Given the description of an element on the screen output the (x, y) to click on. 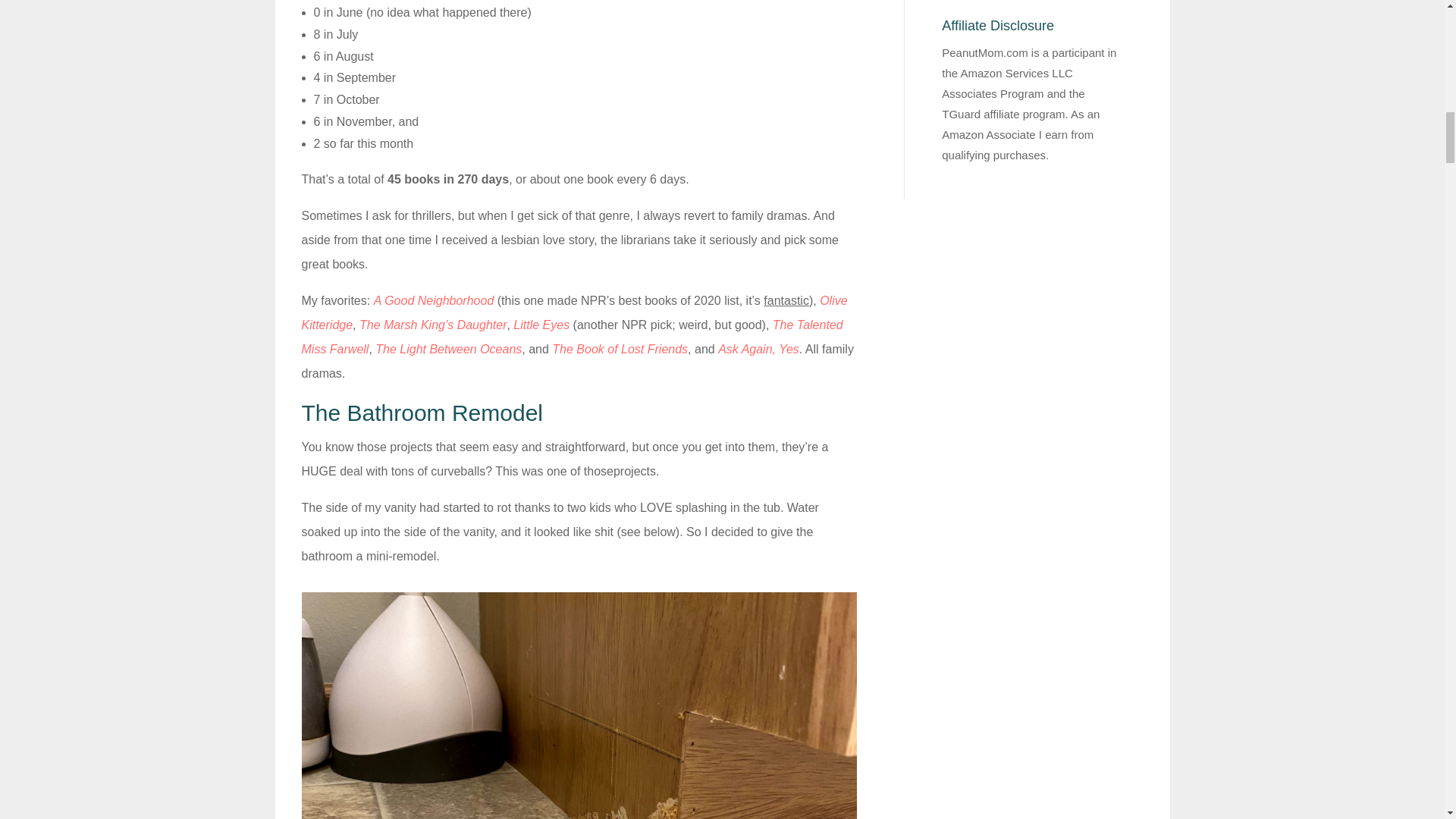
The Book of Lost Friends (619, 349)
Olive Kitteridge (574, 312)
Little Eyes (541, 324)
Ask Again, Yes (758, 349)
The Light Between Oceans (448, 349)
A Good Neighborhood (434, 300)
The Talented Miss Farwell (572, 336)
Vanity rot (579, 705)
